Given the description of an element on the screen output the (x, y) to click on. 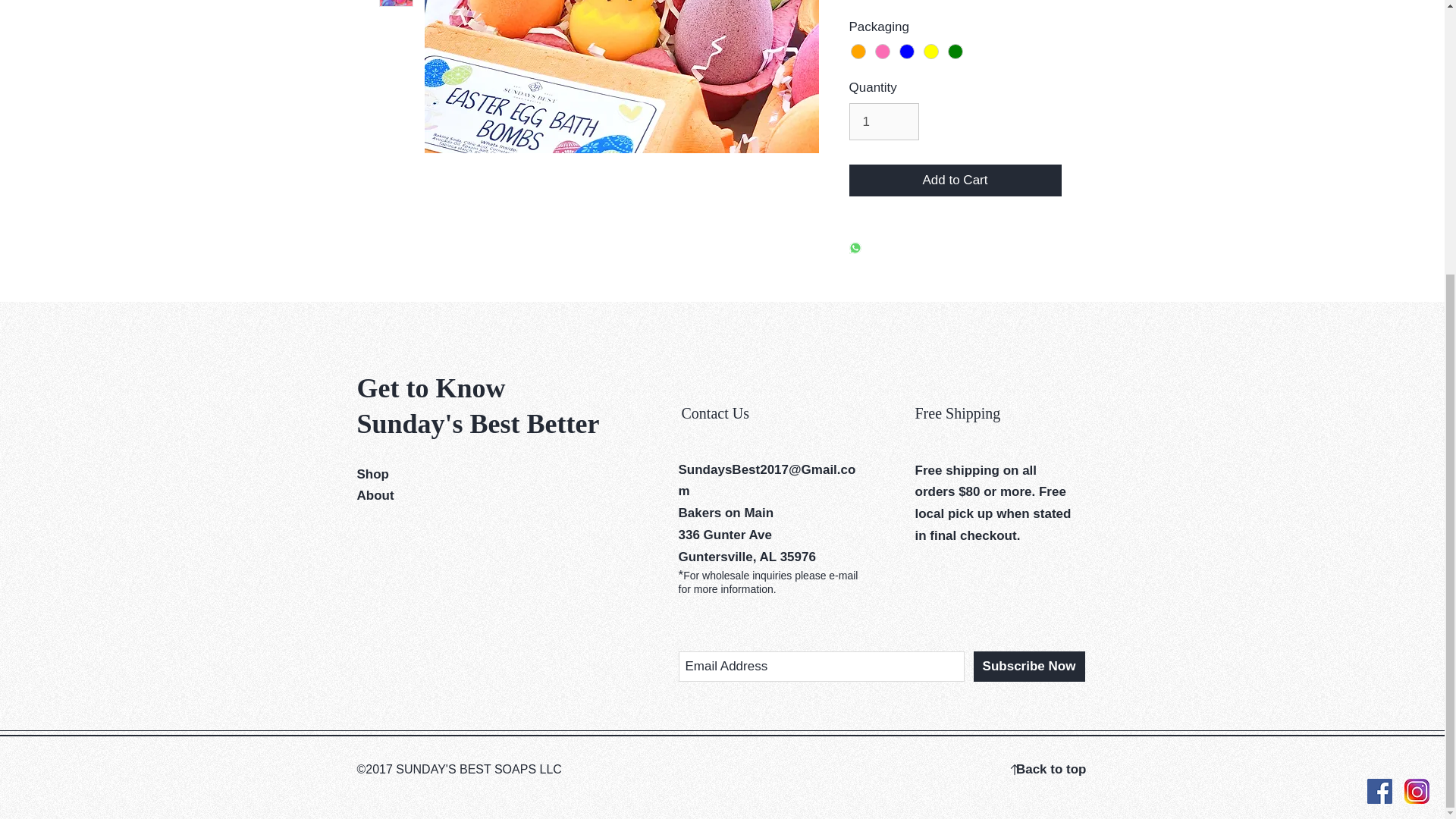
Shop (372, 473)
Add to Cart (954, 180)
Subscribe Now (1029, 666)
1 (884, 121)
Back to top (1051, 769)
About (374, 495)
